Given the description of an element on the screen output the (x, y) to click on. 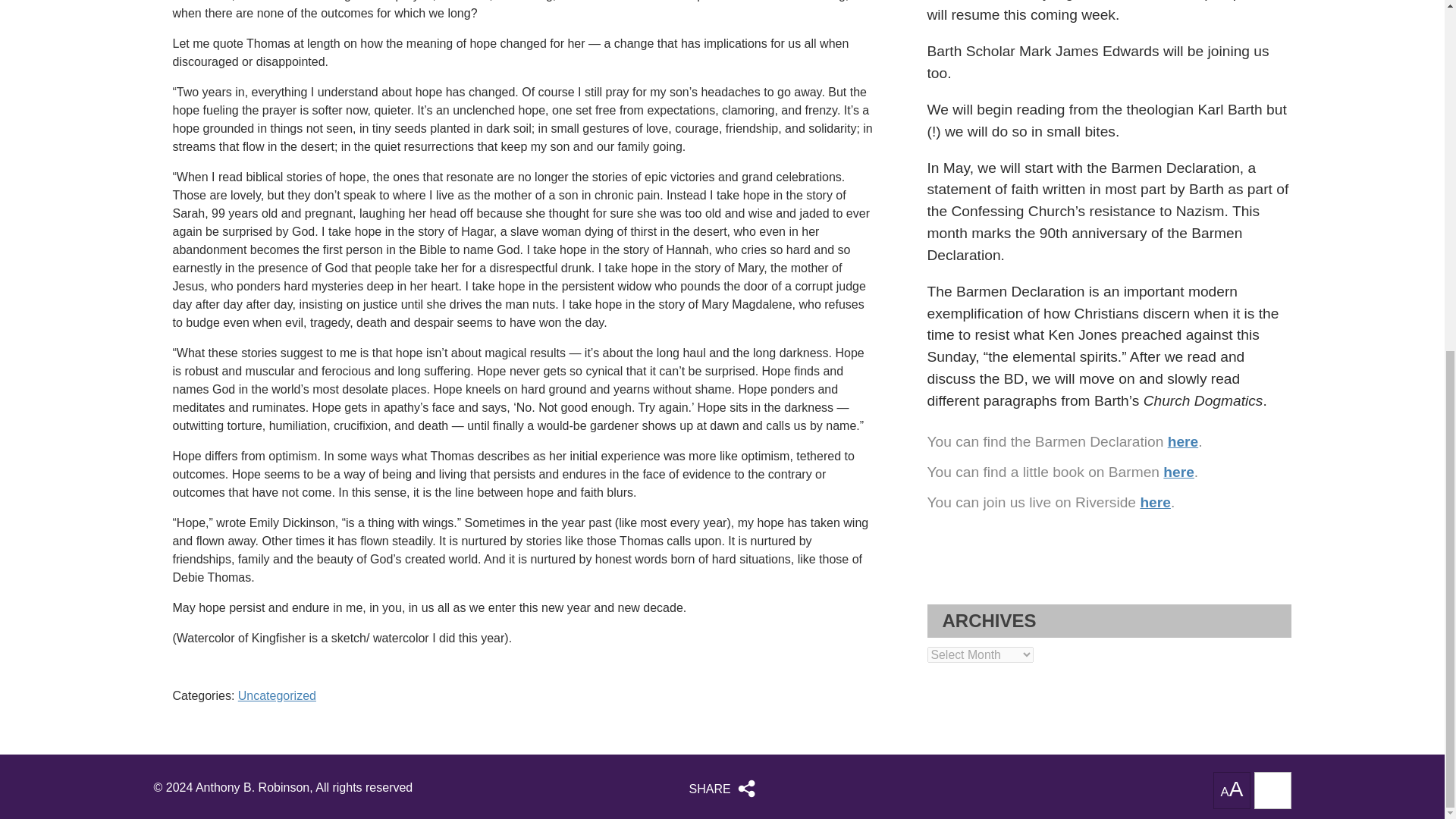
here (1182, 441)
here (1178, 471)
Uncategorized (276, 695)
here (1155, 502)
High Contrast: White Background with Black Text (1272, 790)
